Given the description of an element on the screen output the (x, y) to click on. 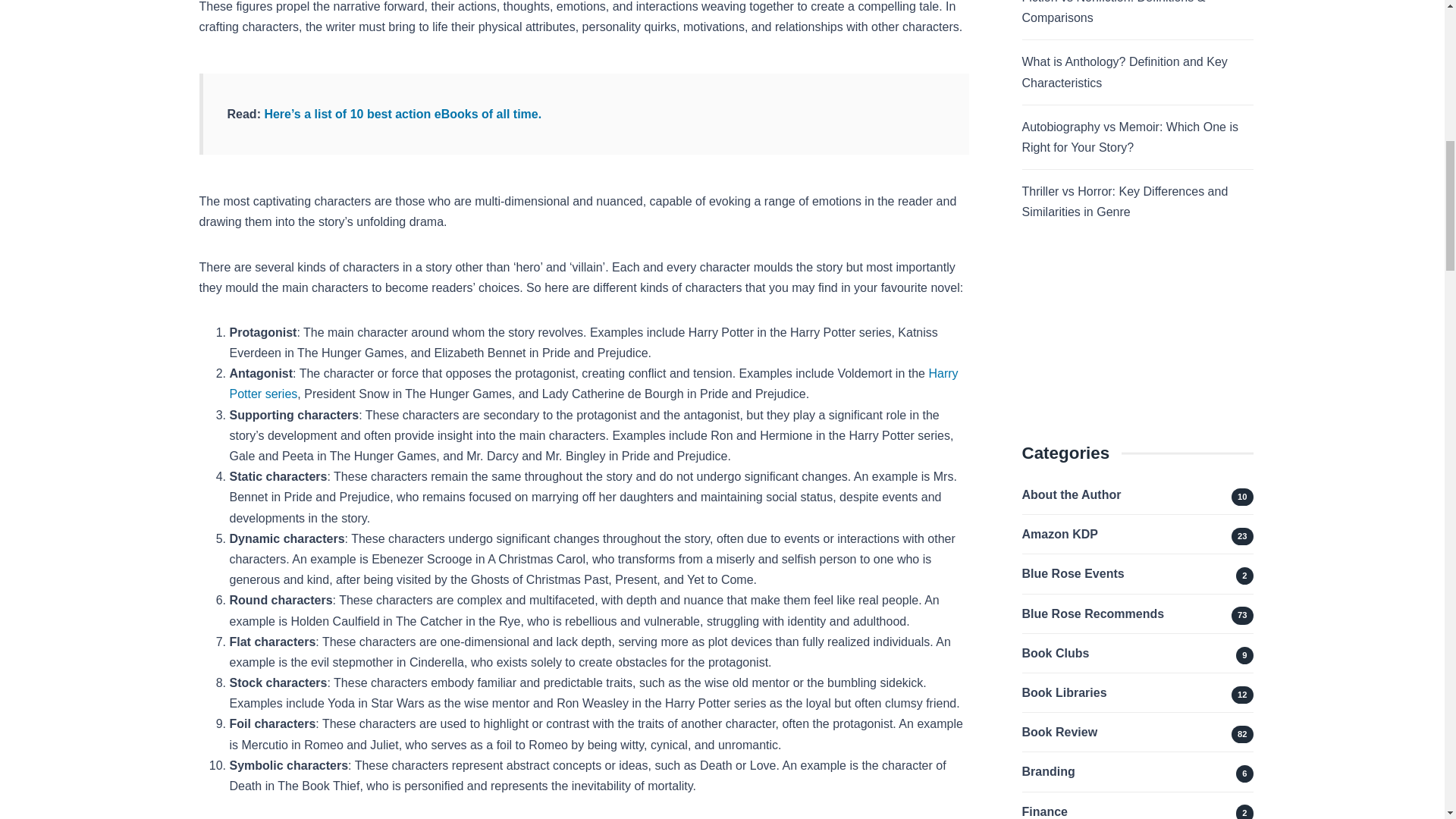
Harry Potter series (593, 383)
